Given the description of an element on the screen output the (x, y) to click on. 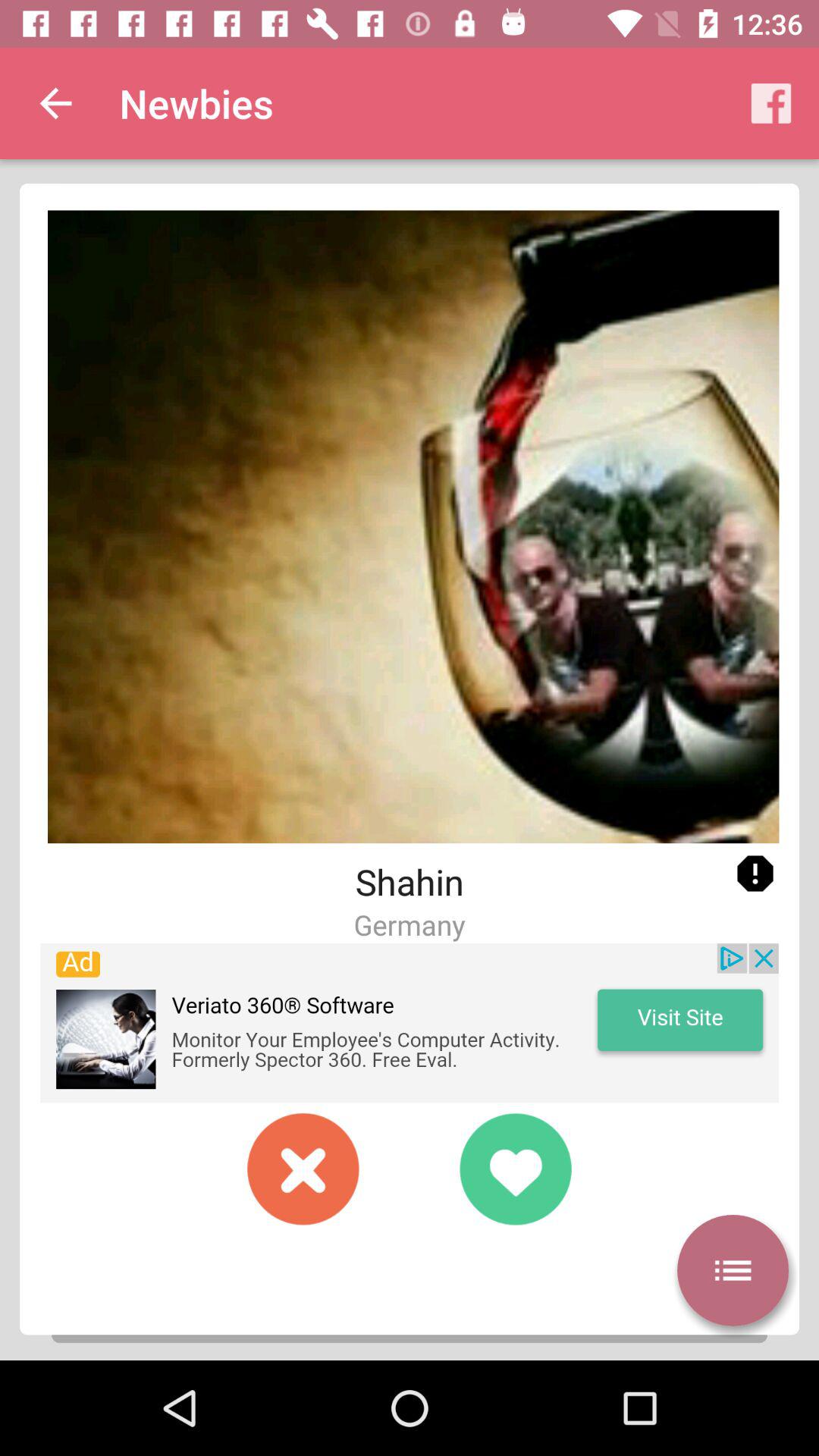
add to favorites (515, 1169)
